Given the description of an element on the screen output the (x, y) to click on. 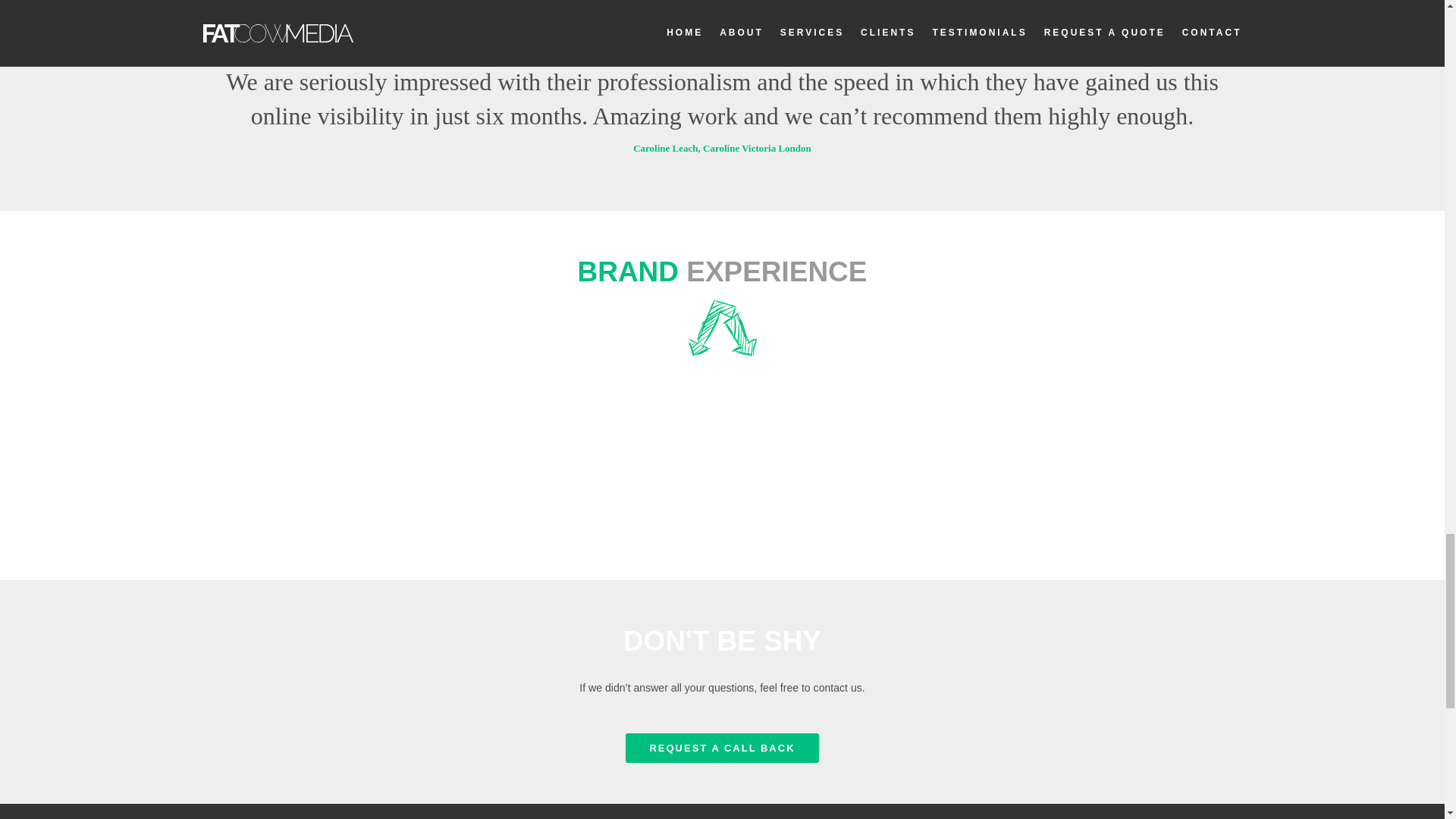
Next (1221, 105)
Prev (222, 105)
REQUEST A CALL BACK (722, 748)
